Given the description of an element on the screen output the (x, y) to click on. 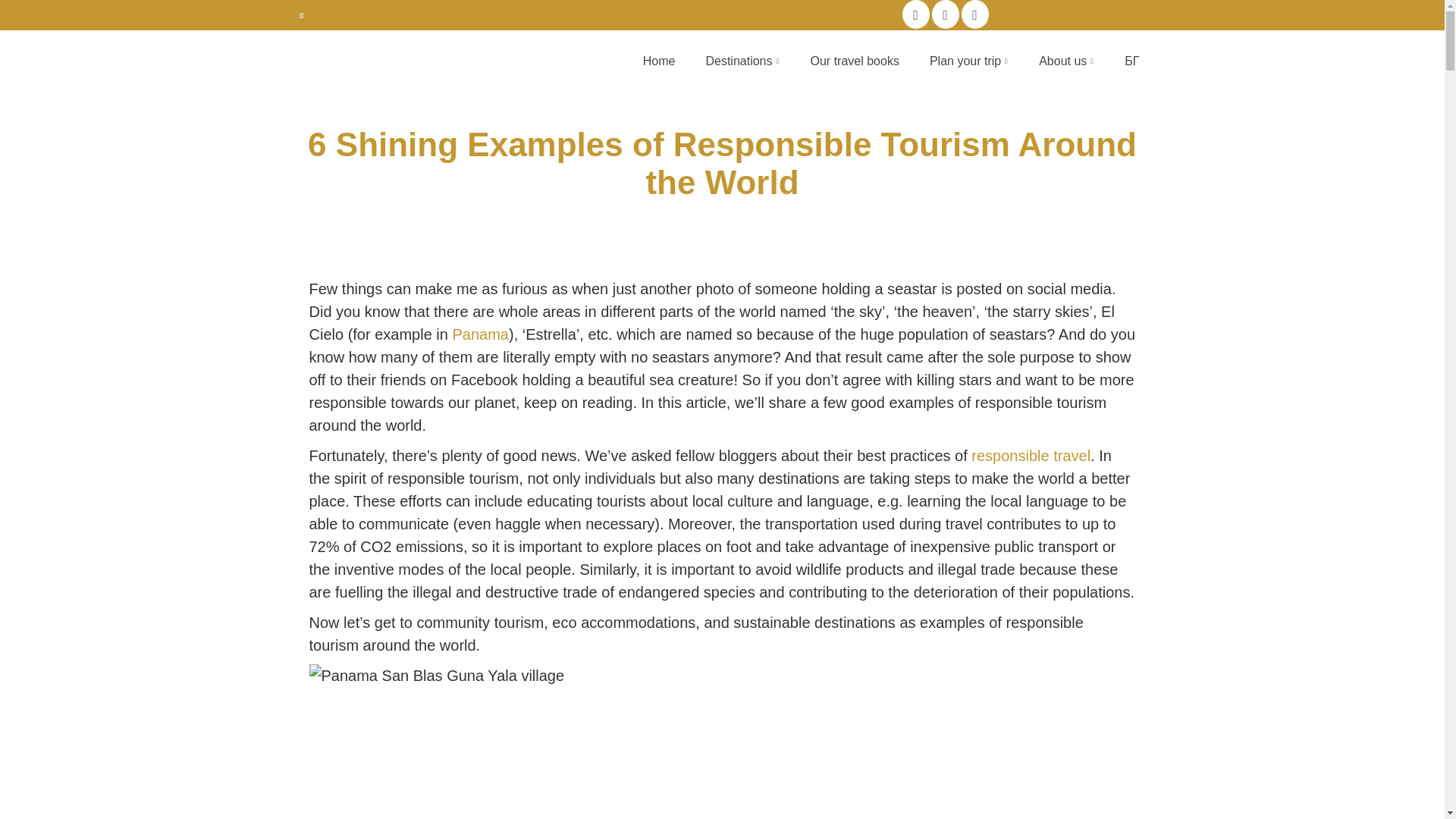
Destinations (742, 61)
YouTube (974, 14)
Home (658, 61)
Plan your trip (968, 61)
Panama (479, 334)
Our travel books (854, 61)
Facebook (916, 14)
responsible travel (1030, 455)
Instagram (944, 14)
About us (1066, 61)
